Given the description of an element on the screen output the (x, y) to click on. 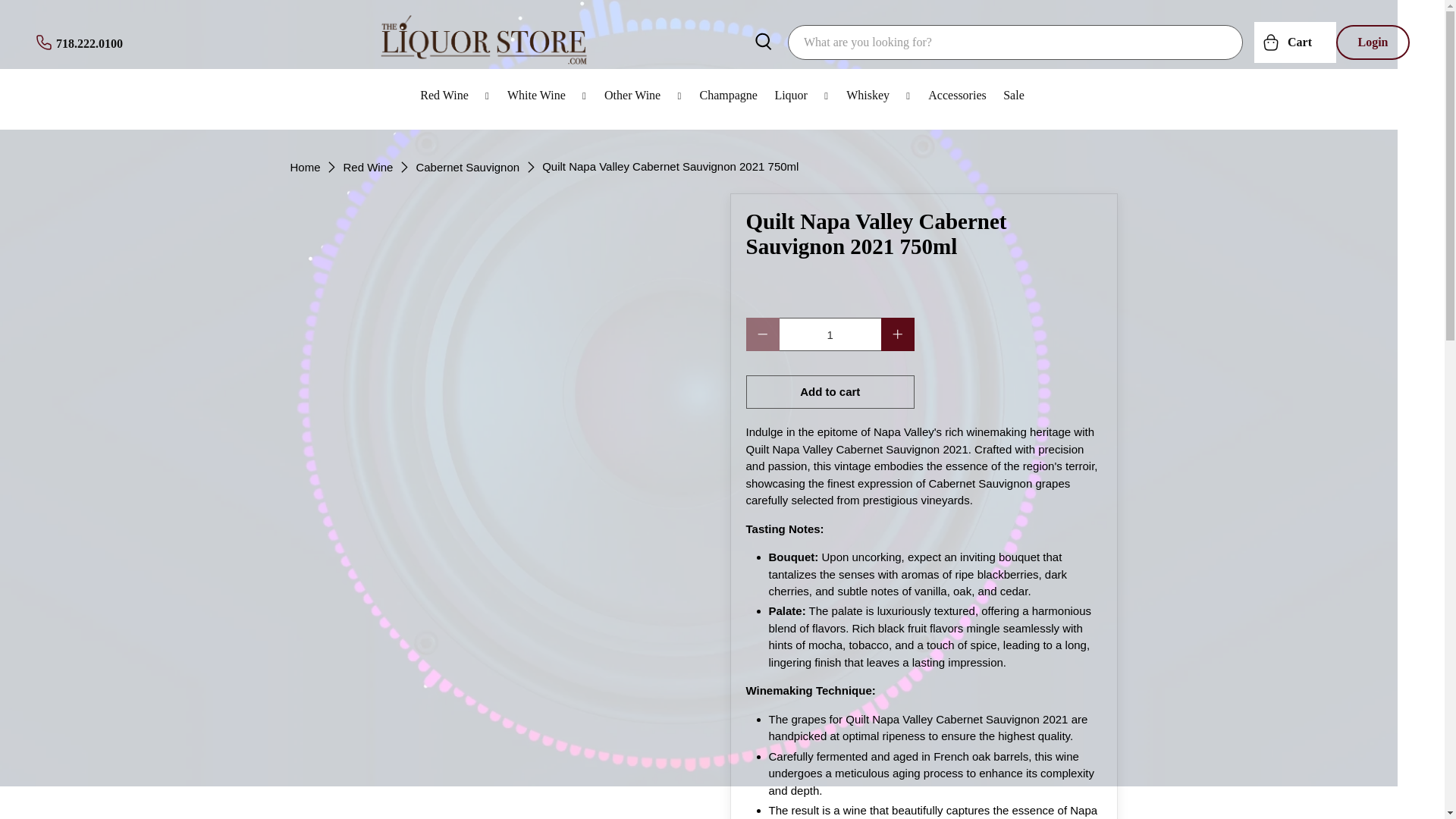
1 (830, 334)
Liquor (801, 95)
Login (1372, 41)
Red Wine (455, 95)
718.222.0100 (78, 42)
White Wine (547, 95)
Cart (1294, 42)
Other Wine (642, 95)
Champagne (727, 95)
TheLiquorStore.com (304, 165)
